Given the description of an element on the screen output the (x, y) to click on. 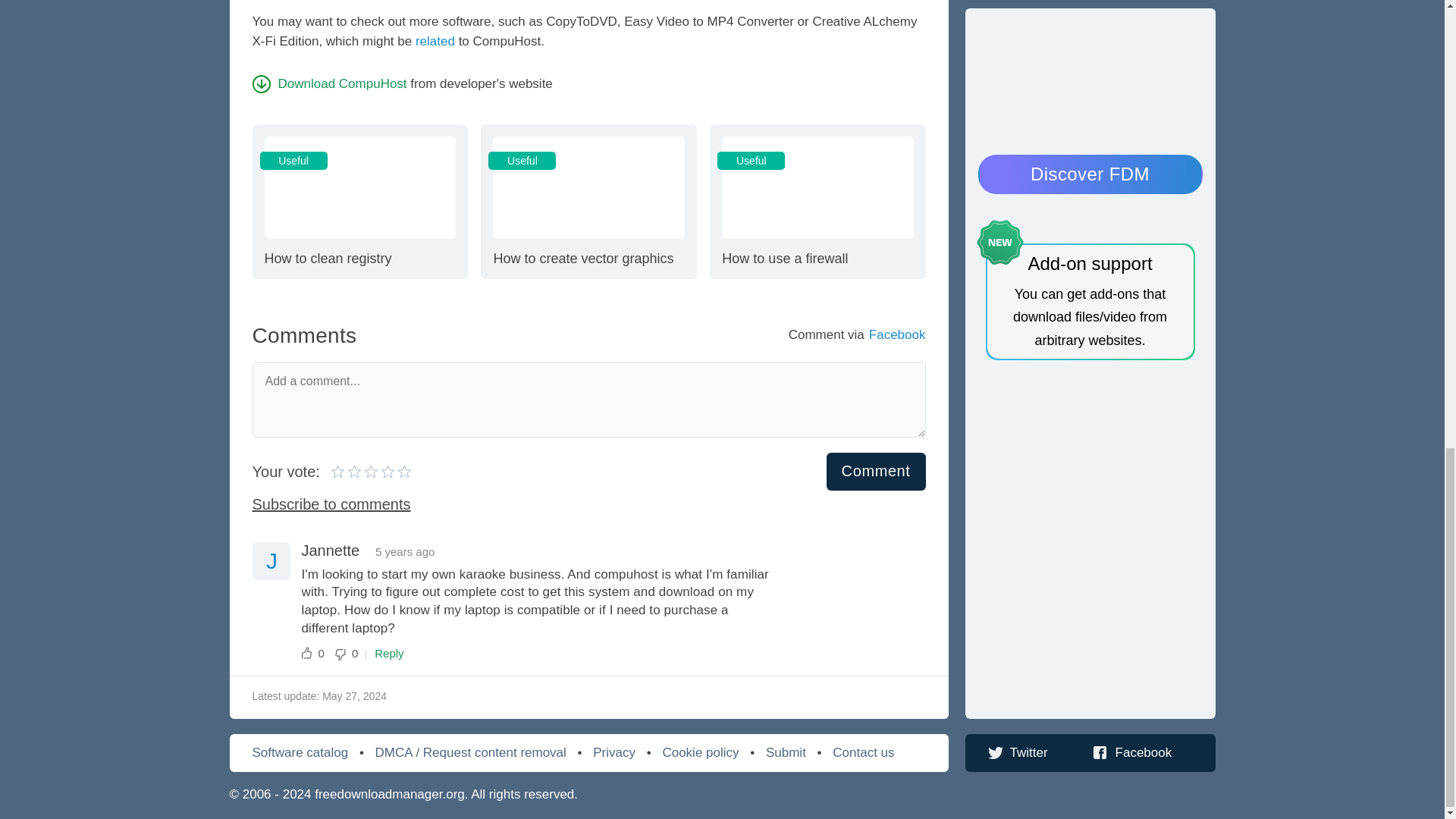
related (817, 200)
Comment (434, 41)
4 (876, 471)
2 (363, 470)
0 (346, 470)
1 (312, 653)
Comment (338, 470)
5 (876, 471)
